Given the description of an element on the screen output the (x, y) to click on. 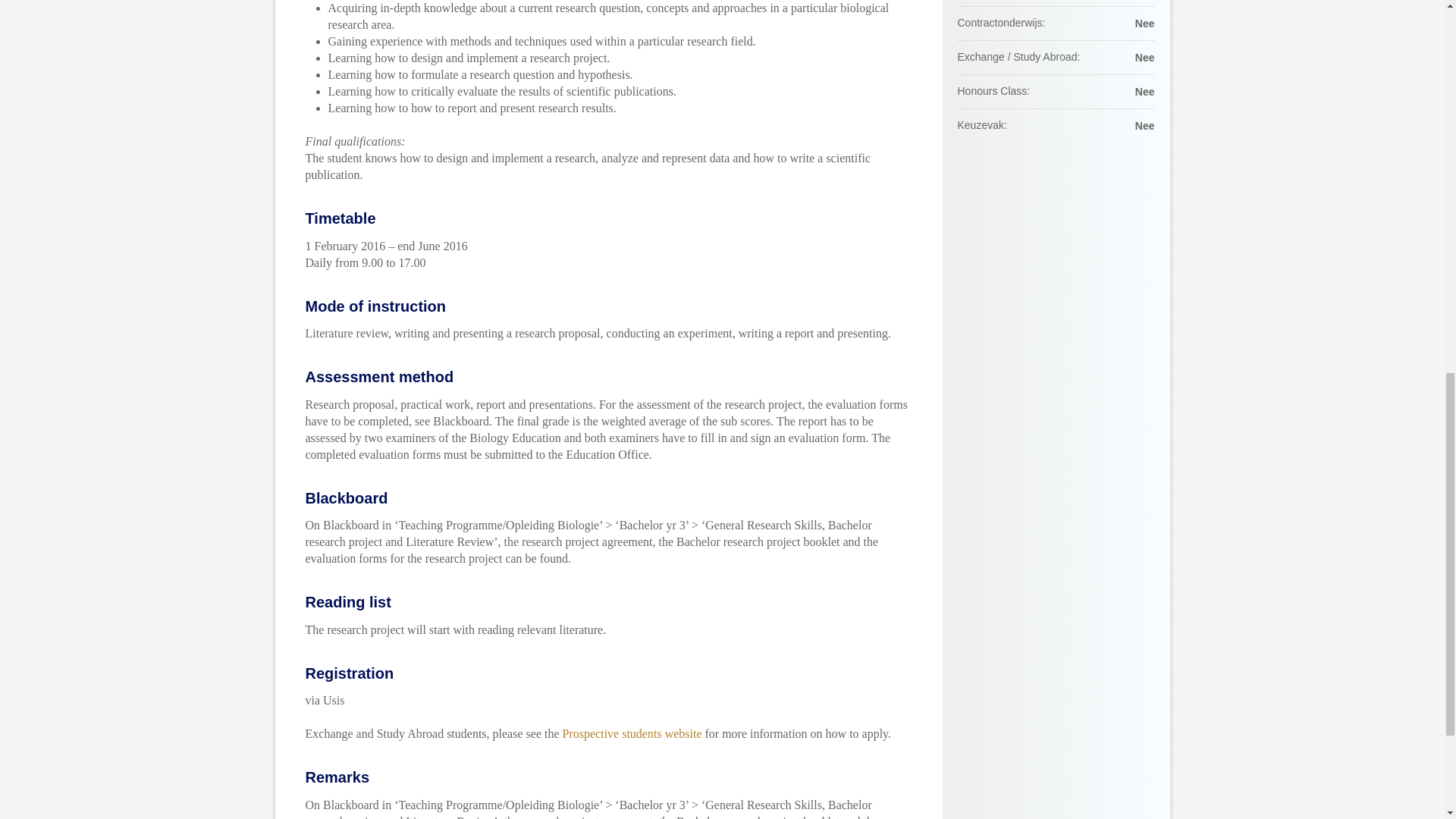
Prospective students website (631, 733)
